Given the description of an element on the screen output the (x, y) to click on. 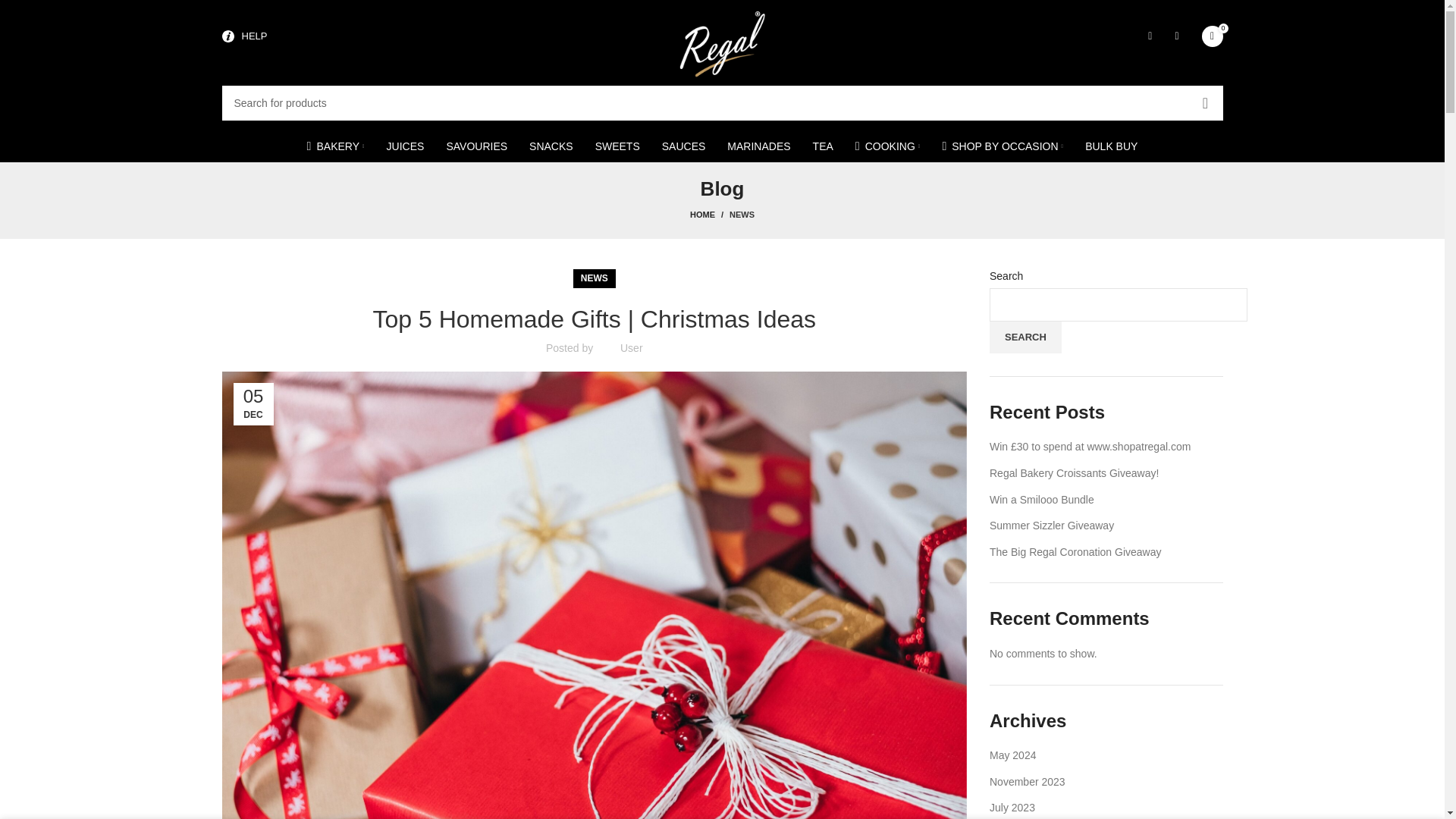
0 (1211, 36)
COOKING (887, 146)
MARINADES (758, 146)
SNACKS (550, 146)
JUICES (405, 146)
SAUCES (683, 146)
SAVOURIES (476, 146)
Shopping cart (1211, 36)
SEARCH (1205, 102)
BAKERY (336, 146)
TEA (823, 146)
Log in (1053, 286)
SWEETS (617, 146)
Search for products (722, 102)
